Given the description of an element on the screen output the (x, y) to click on. 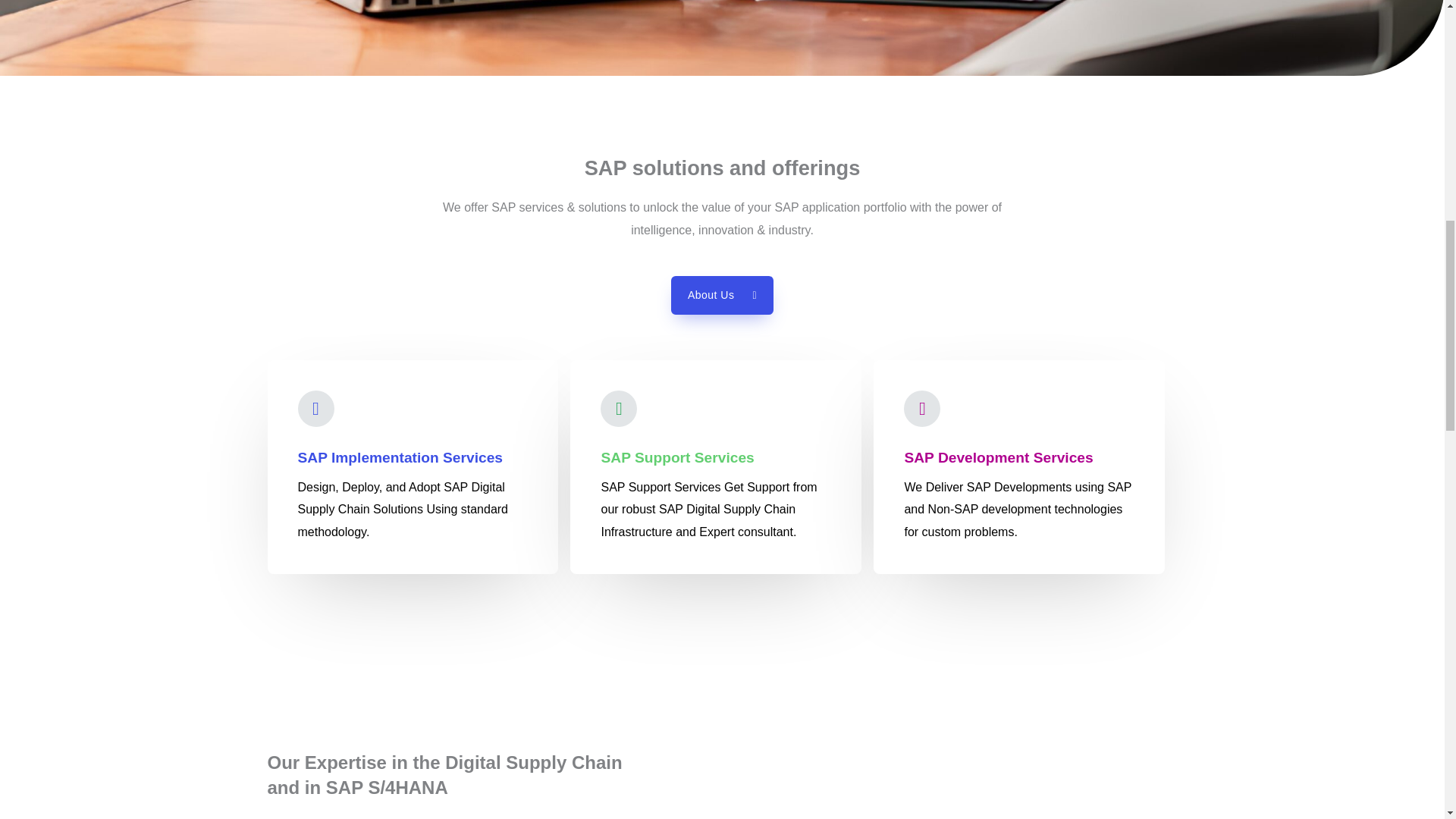
About Us (722, 295)
